Given the description of an element on the screen output the (x, y) to click on. 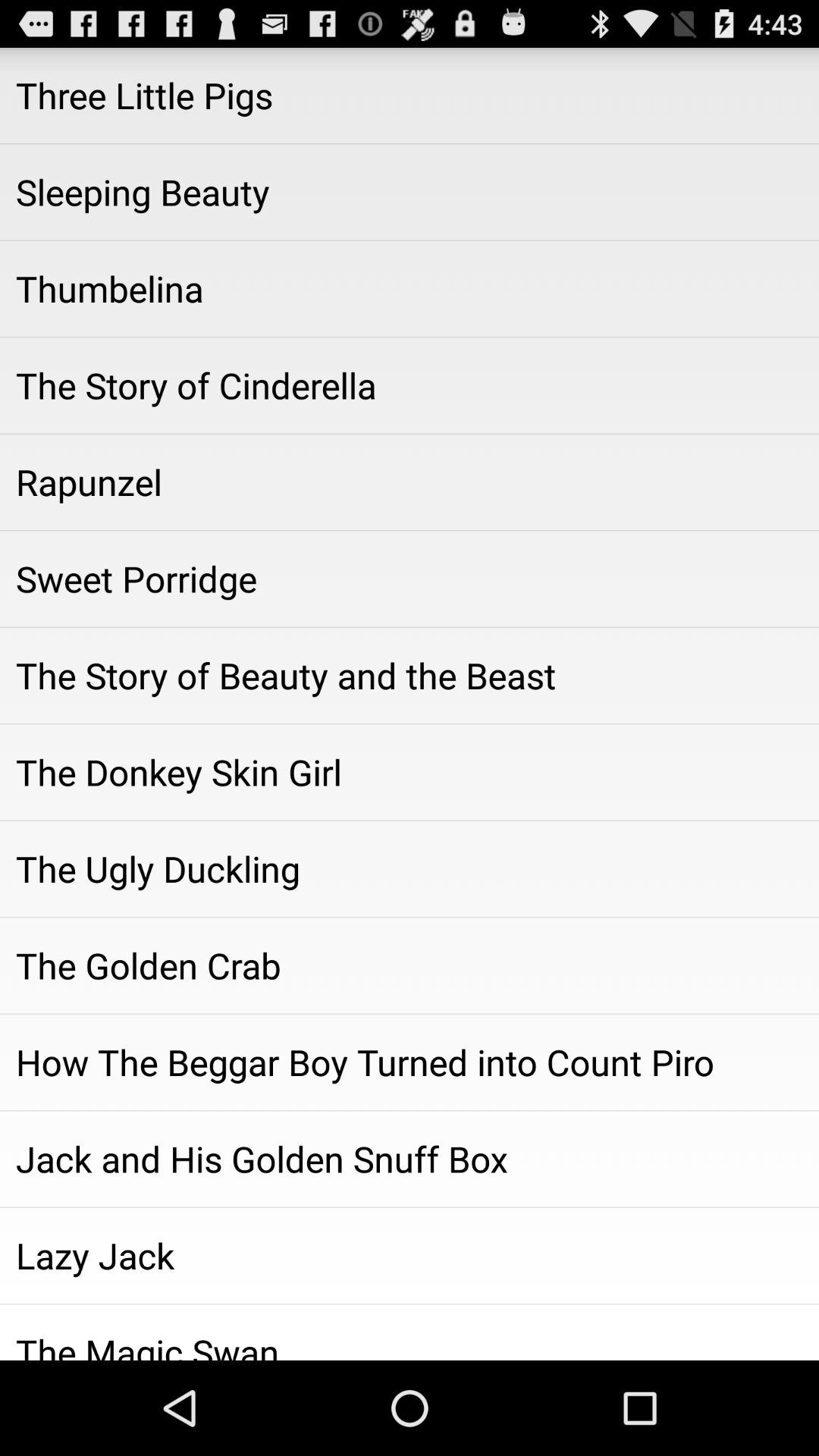
tap icon above the sleeping beauty (409, 95)
